Given the description of an element on the screen output the (x, y) to click on. 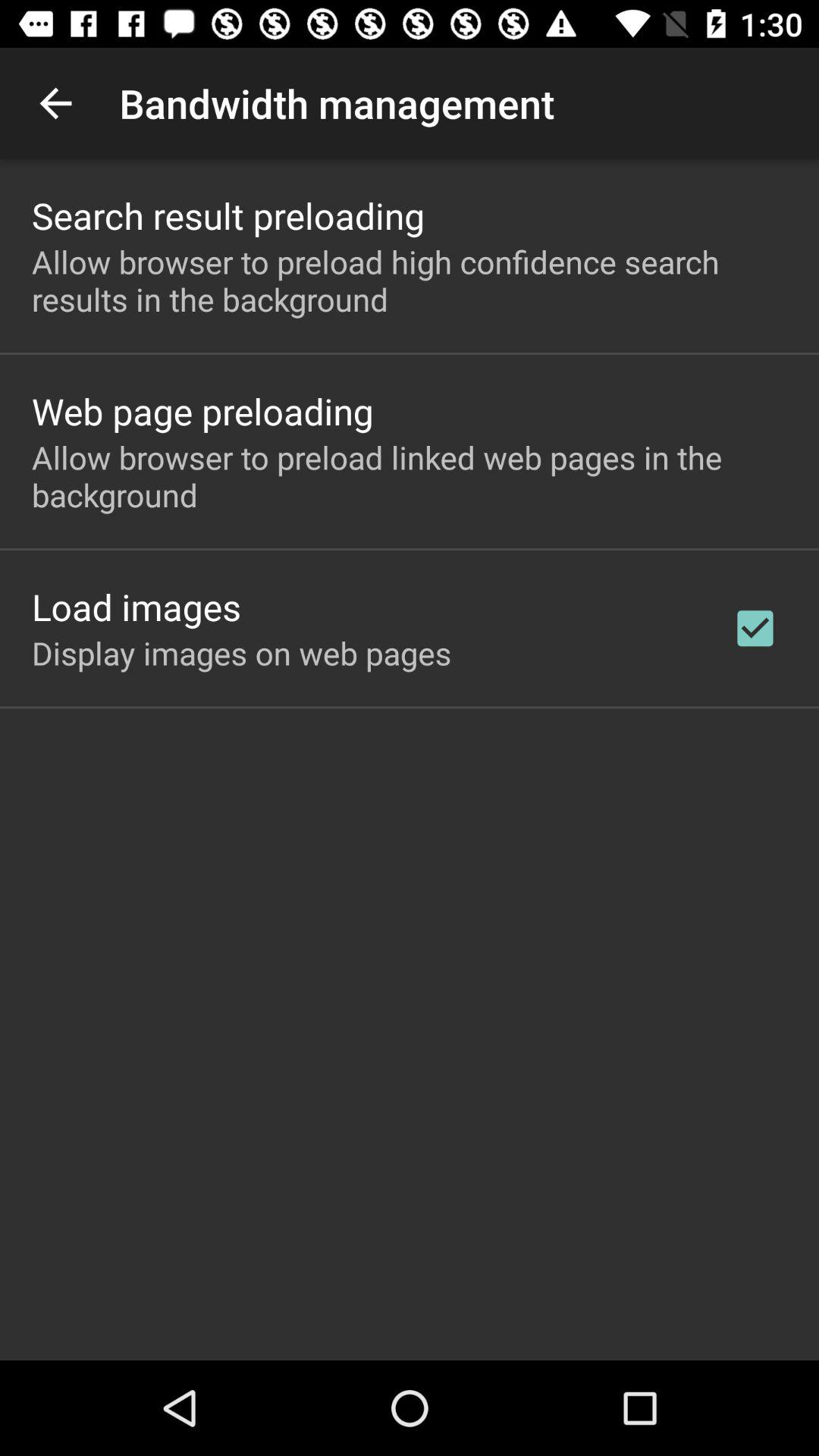
select the checkbox on the right (755, 628)
